Given the description of an element on the screen output the (x, y) to click on. 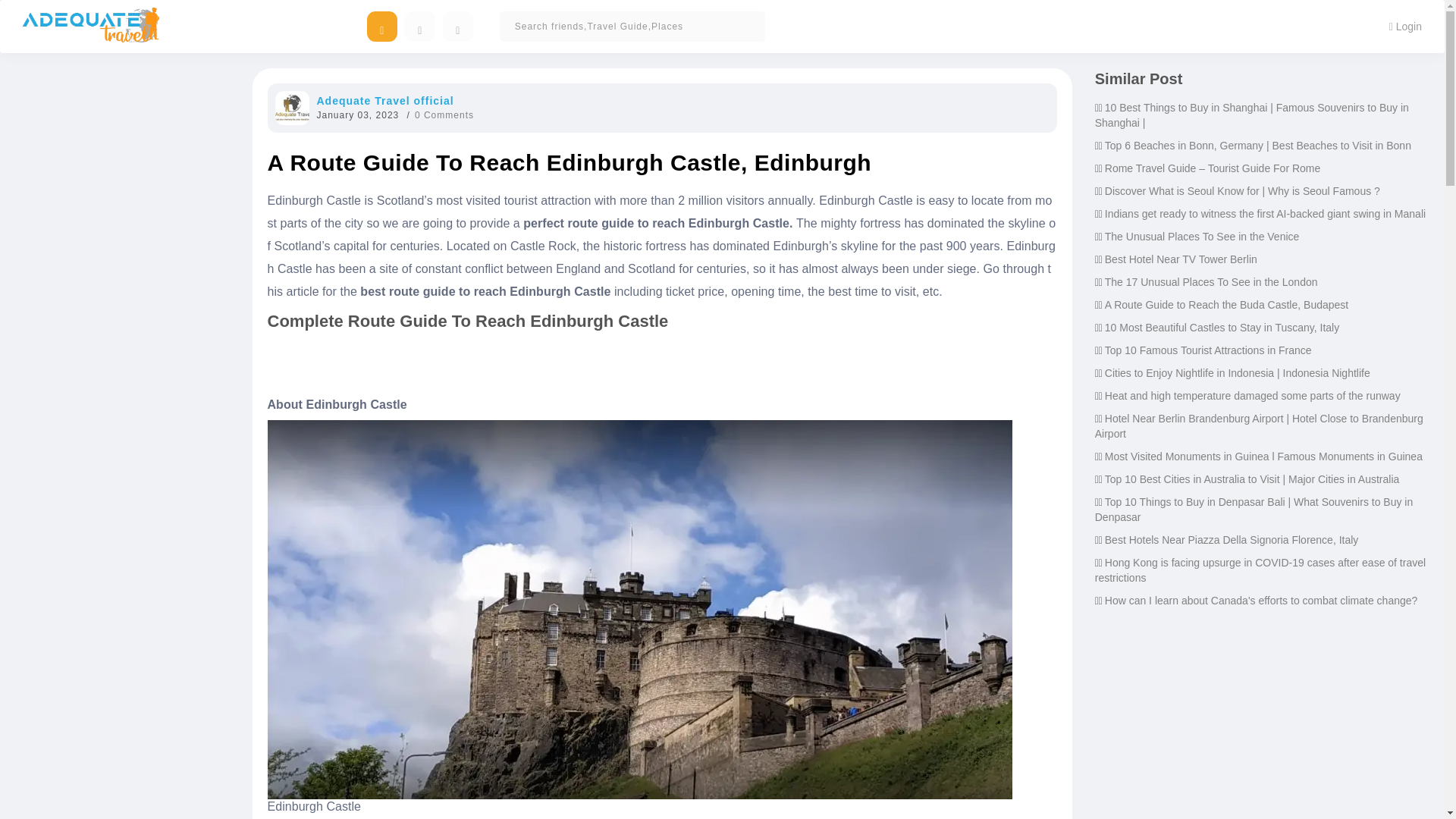
The 17 Unusual Places To See in the London (1211, 282)
Best Hotel Near TV Tower Berlin (1181, 259)
Heat and high temperature damaged some parts of the runway (1252, 395)
Best Hotels Near Piazza Della Signoria Florence, Italy (1231, 539)
0 Comments (444, 114)
The Unusual Places To See in the Venice (1202, 236)
10 Most Beautiful Castles to Stay in Tuscany, Italy (1222, 327)
Top 10 Famous Tourist Attractions in France (1208, 349)
A Route Guide to Reach the Buda Castle, Budapest (1226, 304)
Adequate Travel official (385, 101)
Login (1404, 26)
